Given the description of an element on the screen output the (x, y) to click on. 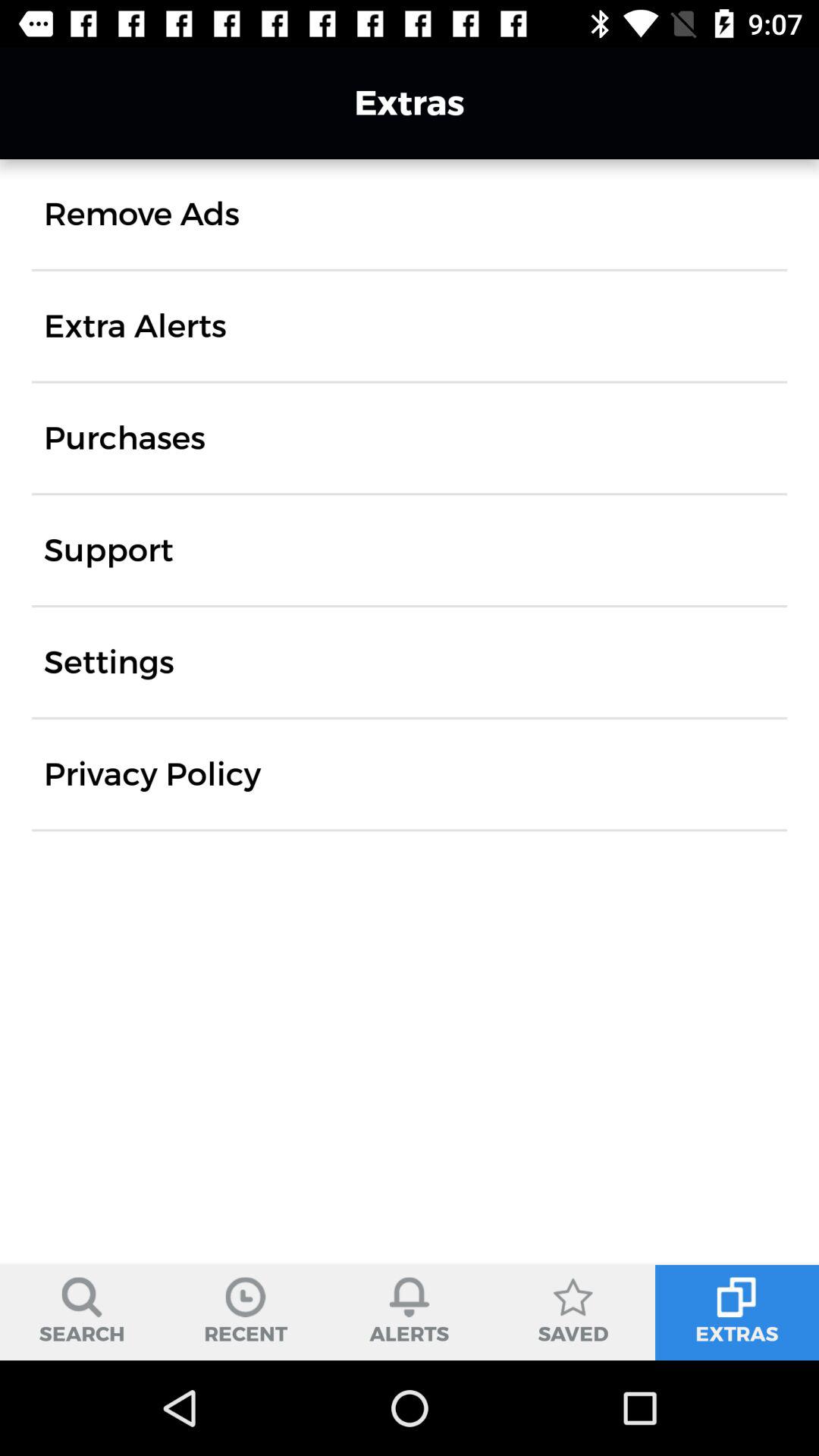
jump to remove ads item (141, 214)
